Given the description of an element on the screen output the (x, y) to click on. 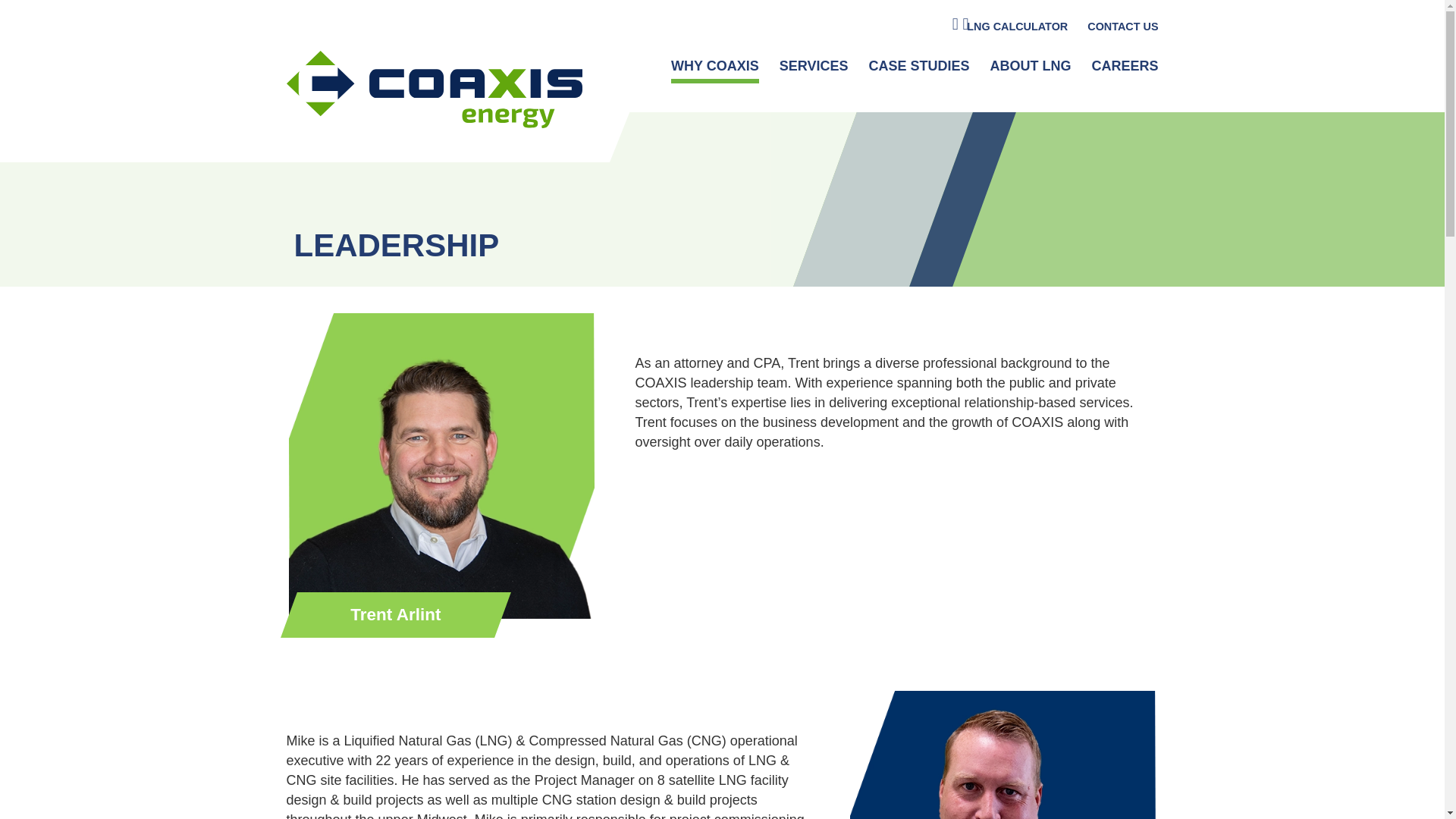
CAREERS (1123, 68)
LNG CALCULATOR (1016, 28)
CONTACT US (1122, 28)
WHY COAXIS (714, 70)
CASE STUDIES (918, 68)
ABOUT LNG (1030, 68)
SERVICES (813, 68)
